Given the description of an element on the screen output the (x, y) to click on. 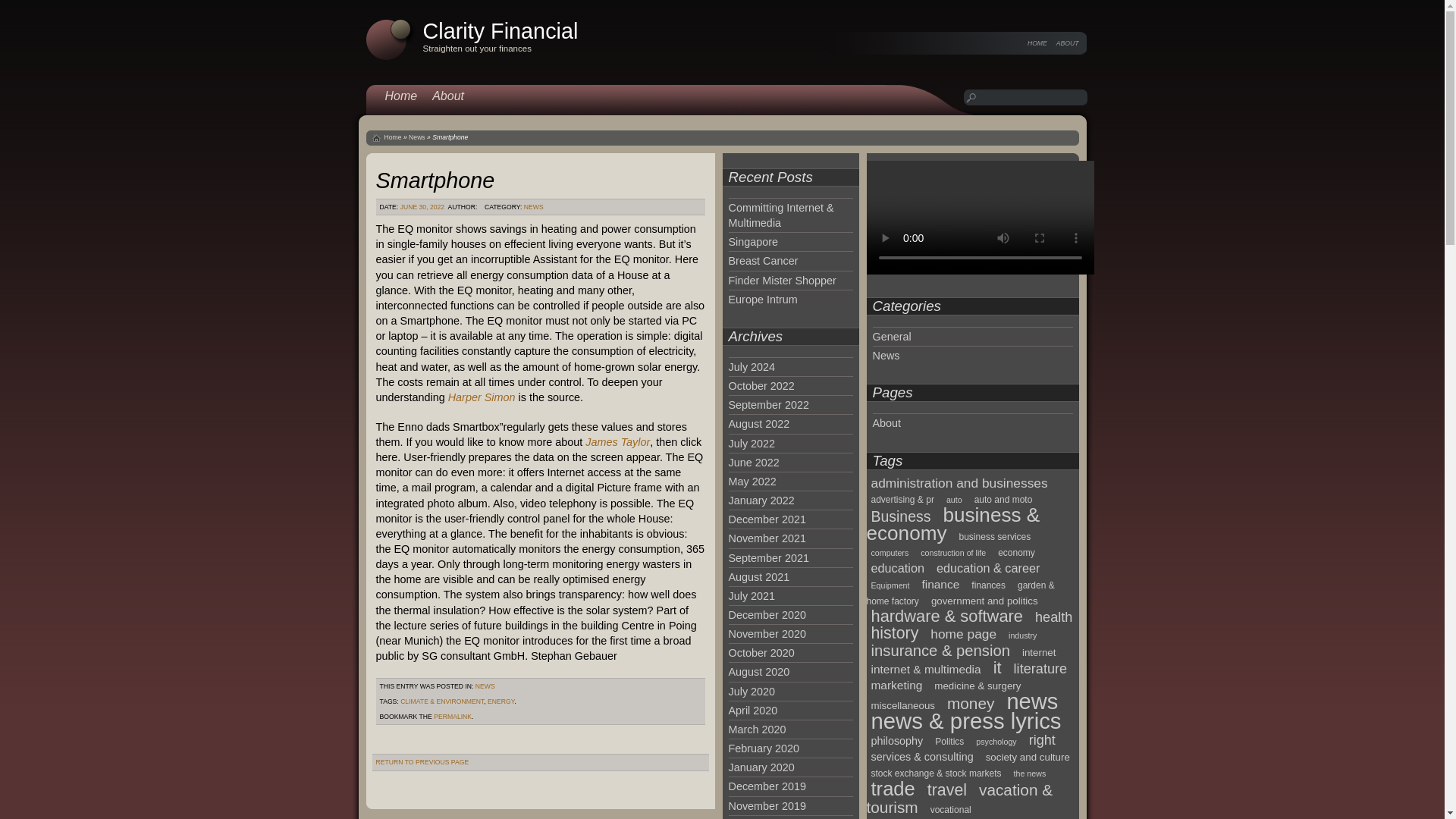
July 2021 (751, 595)
James Taylor (617, 441)
HOME (1036, 42)
News (417, 136)
JUNE 30, 2022 (422, 206)
December 2020 (766, 614)
ABOUT (1067, 42)
RETURN TO PREVIOUS PAGE (421, 761)
August 2020 (758, 671)
August 2022 (758, 423)
Home (392, 136)
October 2020 (760, 653)
Finder Mister Shopper (781, 280)
November 2021 (766, 538)
September 2022 (768, 404)
